Given the description of an element on the screen output the (x, y) to click on. 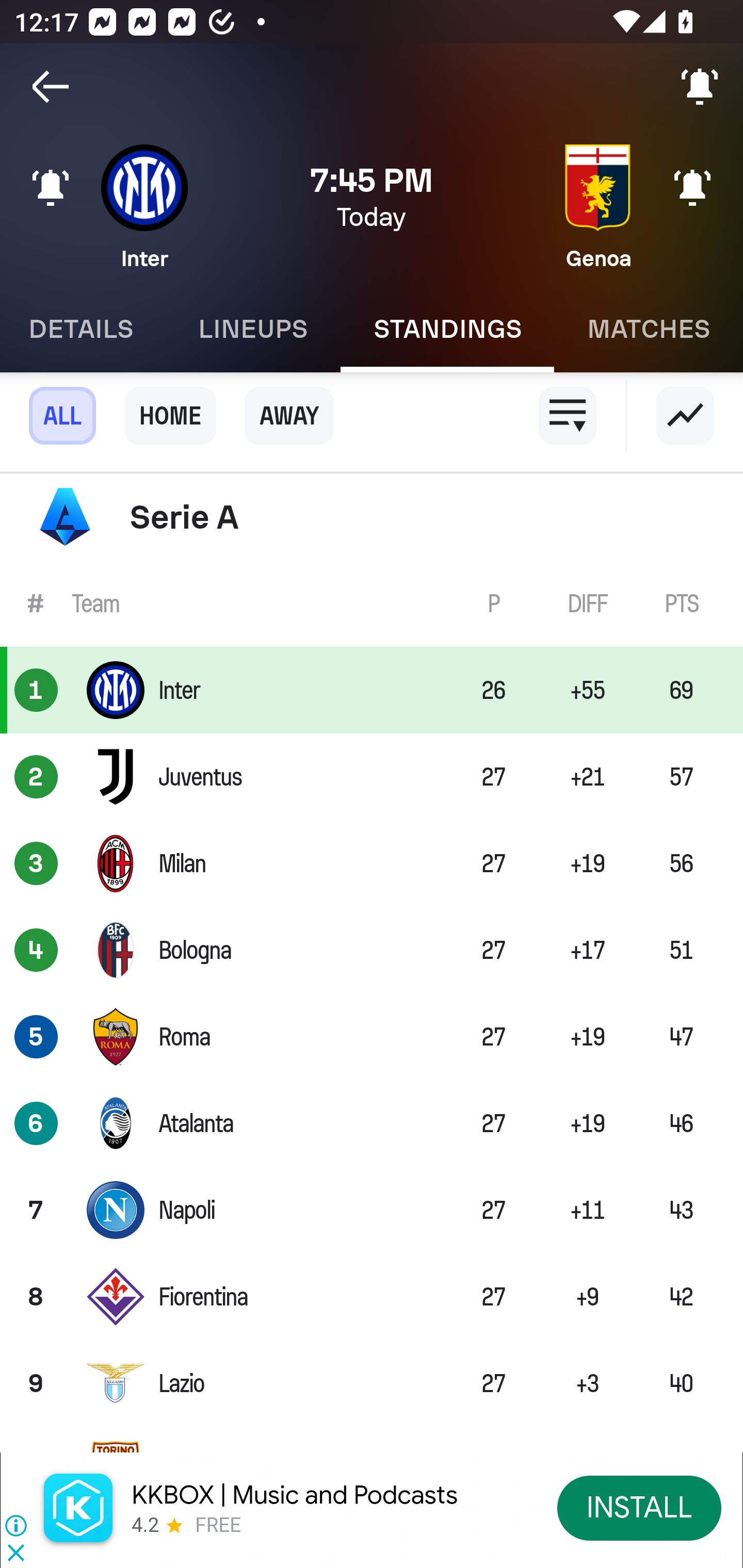
Navigate up (50, 86)
Details DETAILS (82, 329)
Lineups LINEUPS (252, 329)
Matches MATCHES (648, 329)
ALL (62, 416)
HOME (170, 416)
AWAY (288, 416)
Serie A (371, 516)
# Team P DIFF PTS (371, 602)
1 Inter 26 +55 69 (371, 689)
1 (36, 689)
2 Juventus 27 +21 57 (371, 776)
2 (36, 776)
3 Milan 27 +19 56 (371, 863)
3 (36, 863)
4 Bologna 27 +17 51 (371, 950)
4 (36, 950)
5 Roma 27 +19 47 (371, 1037)
5 (36, 1037)
6 Atalanta 27 +19 46 (371, 1123)
6 (36, 1123)
7 Napoli 27 +11 43 (371, 1209)
7 (36, 1209)
8 Fiorentina 27 +9 42 (371, 1296)
8 (36, 1296)
9 Lazio 27 +3 40 (371, 1383)
9 (36, 1383)
INSTALL (639, 1507)
KKBOX | Music and Podcasts (294, 1494)
